Given the description of an element on the screen output the (x, y) to click on. 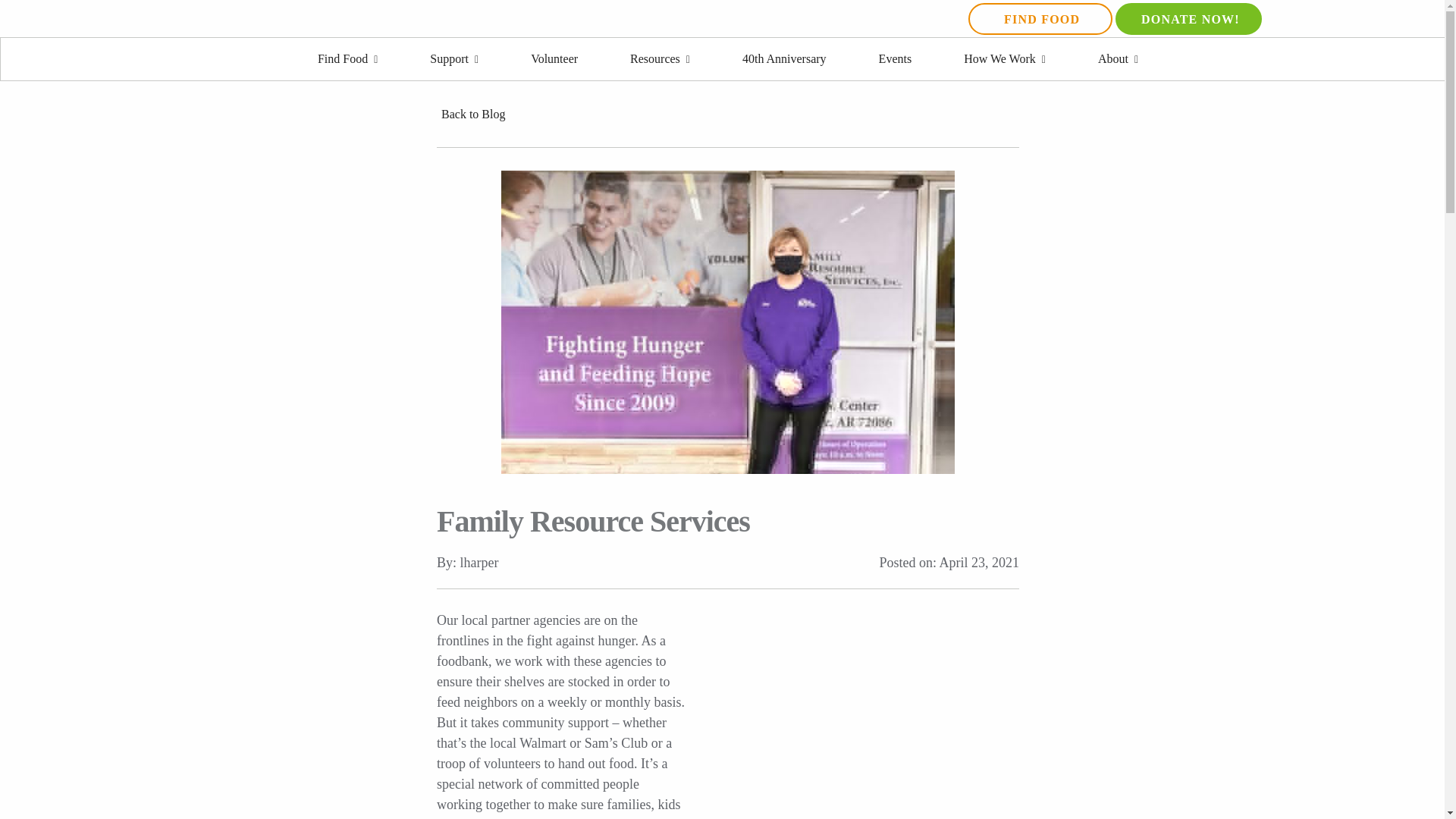
About (1117, 58)
40th Anniversary (783, 58)
FIND FOOD (1040, 19)
Resources (659, 58)
Support (454, 58)
DONATE NOW! (1188, 19)
Volunteer (554, 58)
How We Work (1004, 58)
Find Food (347, 58)
